Given the description of an element on the screen output the (x, y) to click on. 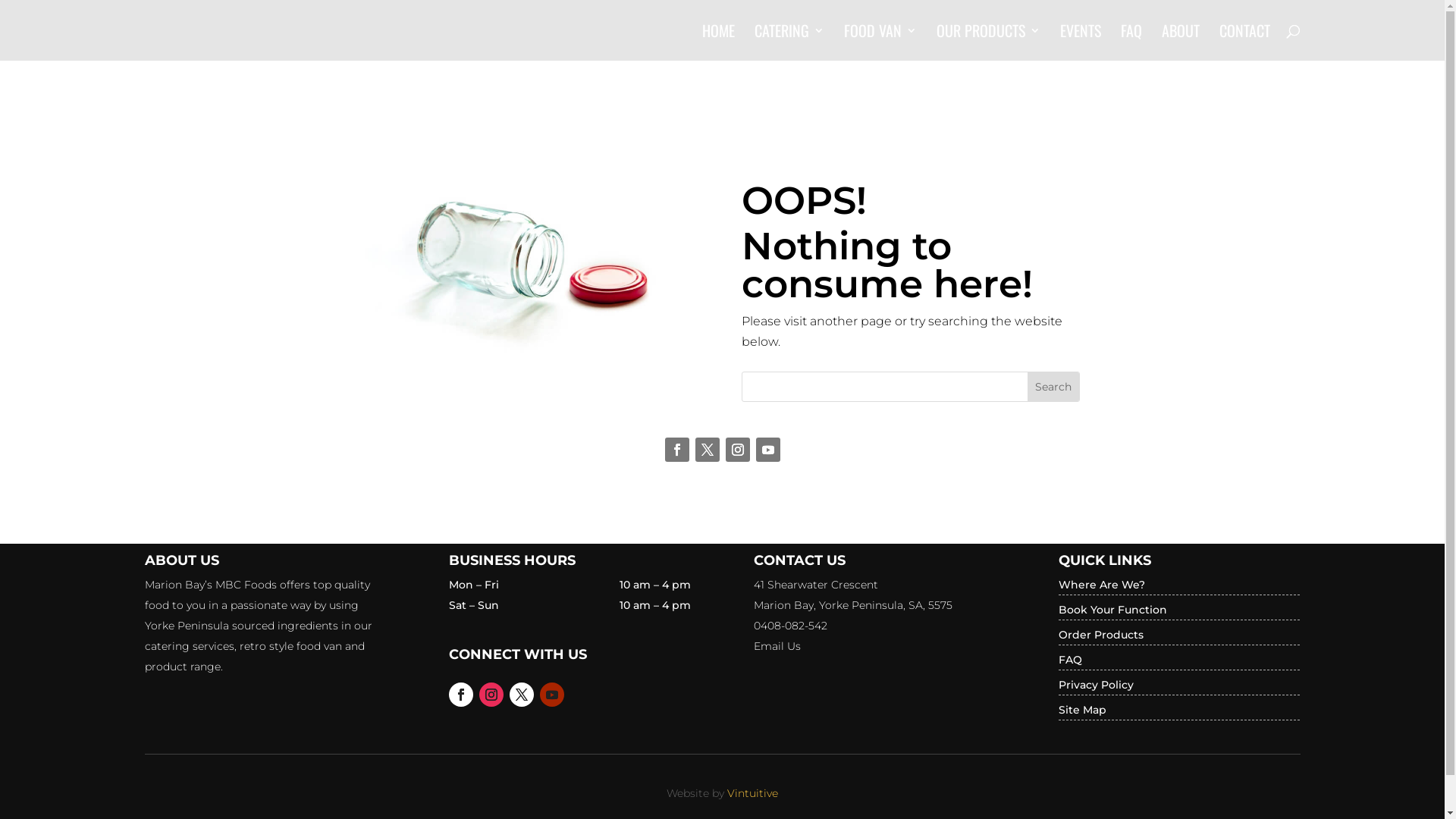
Where Are We? Element type: text (1101, 584)
HOME Element type: text (718, 42)
FOOD VAN Element type: text (879, 42)
Follow on Instagram Element type: hover (736, 449)
Search Element type: text (1053, 386)
Follow on Youtube Element type: hover (767, 449)
Follow on Twitter Element type: hover (706, 449)
EVENTS Element type: text (1080, 42)
Site Map Element type: text (1082, 709)
CATERING Element type: text (788, 42)
FAQ Element type: text (1070, 659)
ABOUT Element type: text (1180, 42)
OUR PRODUCTS Element type: text (987, 42)
FAQ Element type: text (1131, 42)
Follow on Youtube Element type: hover (551, 694)
CONTACT Element type: text (1244, 42)
Email Us Element type: text (776, 645)
Follow on Instagram Element type: hover (491, 694)
Follow on Facebook Element type: hover (460, 694)
Vintuitive Element type: text (752, 793)
Order Products Element type: text (1100, 634)
0408-082-542 Element type: text (790, 625)
Follow on X Element type: hover (521, 694)
Follow on Facebook Element type: hover (676, 449)
Privacy Policy Element type: text (1095, 684)
Book Your Function Element type: text (1112, 609)
